Given the description of an element on the screen output the (x, y) to click on. 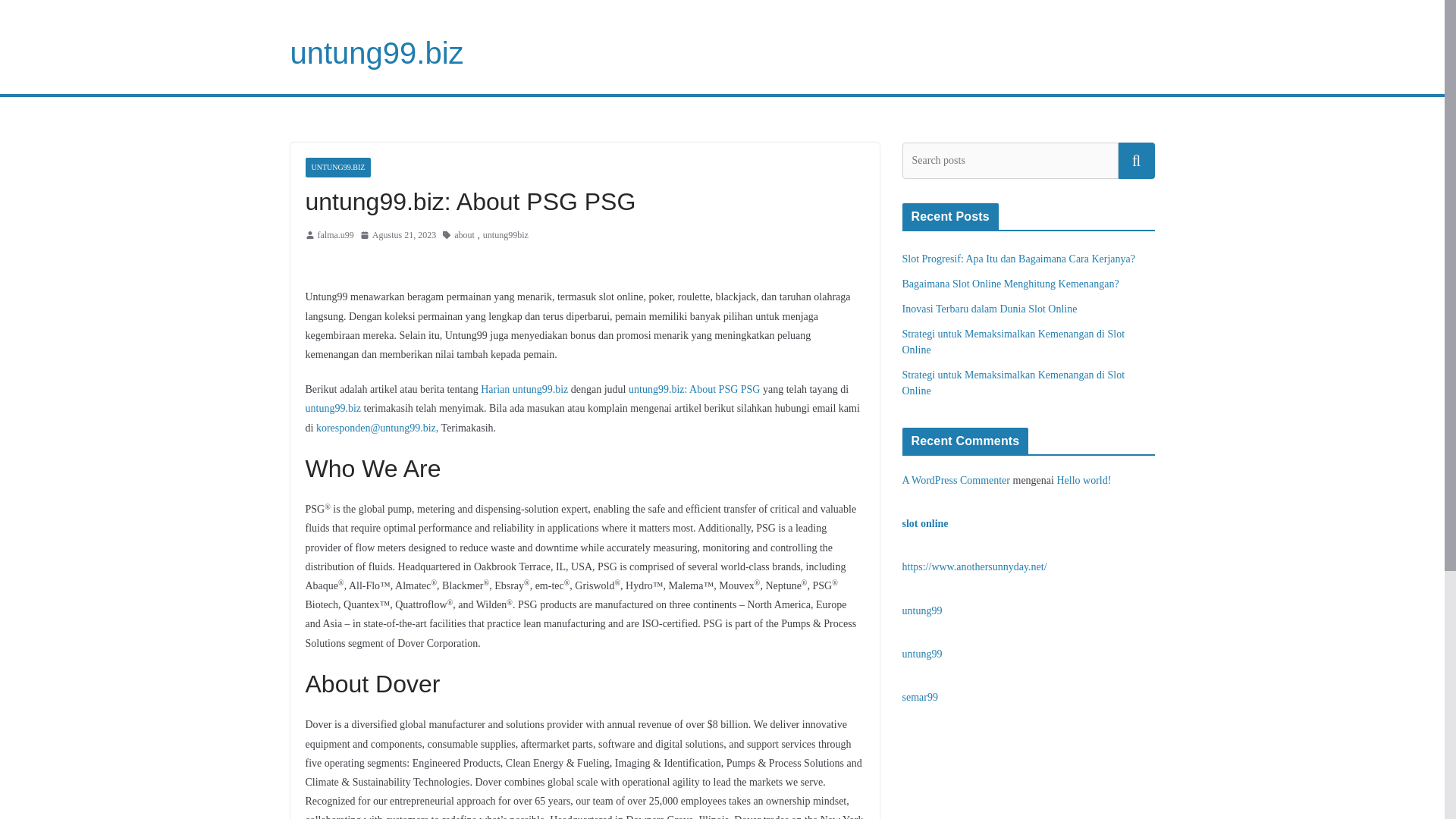
Bagaimana Slot Online Menghitung Kemenangan? (1010, 283)
A WordPress Commenter (956, 480)
Strategi untuk Memaksimalkan Kemenangan di Slot Online (1013, 382)
Strategi untuk Memaksimalkan Kemenangan di Slot Online (1013, 341)
Hello world! (1083, 480)
Inovasi Terbaru dalam Dunia Slot Online (989, 308)
Harian untung99.biz (523, 389)
Agustus 21, 2023 (397, 235)
untung99.biz: About PSG PSG (694, 389)
Cari (1136, 160)
